Given the description of an element on the screen output the (x, y) to click on. 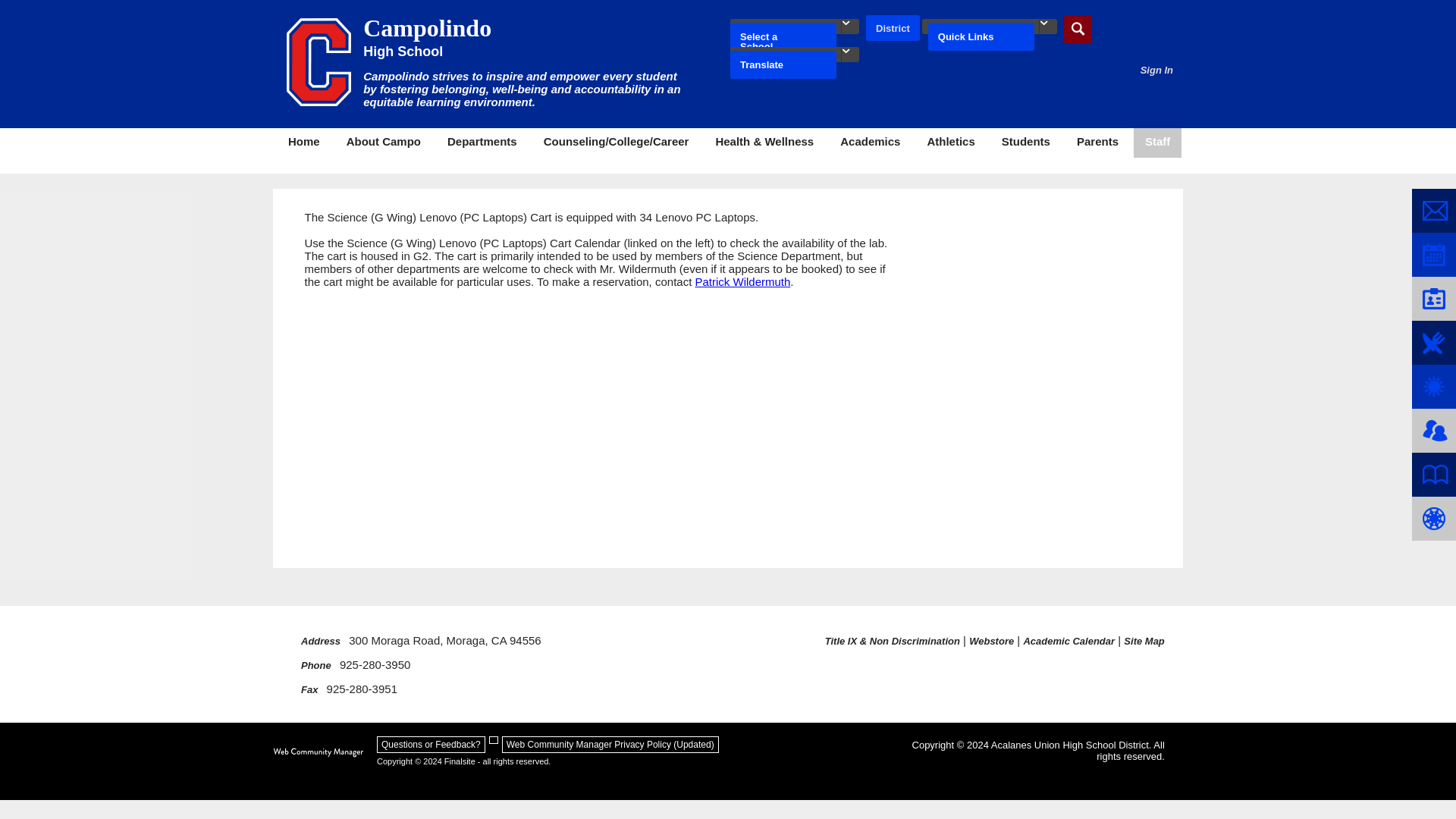
Finalsite - all rights reserved (318, 752)
Home (303, 142)
District (893, 28)
Departments (481, 142)
About Campo (383, 142)
Sign In (1156, 70)
Return to the home page on the district site (893, 28)
